Given the description of an element on the screen output the (x, y) to click on. 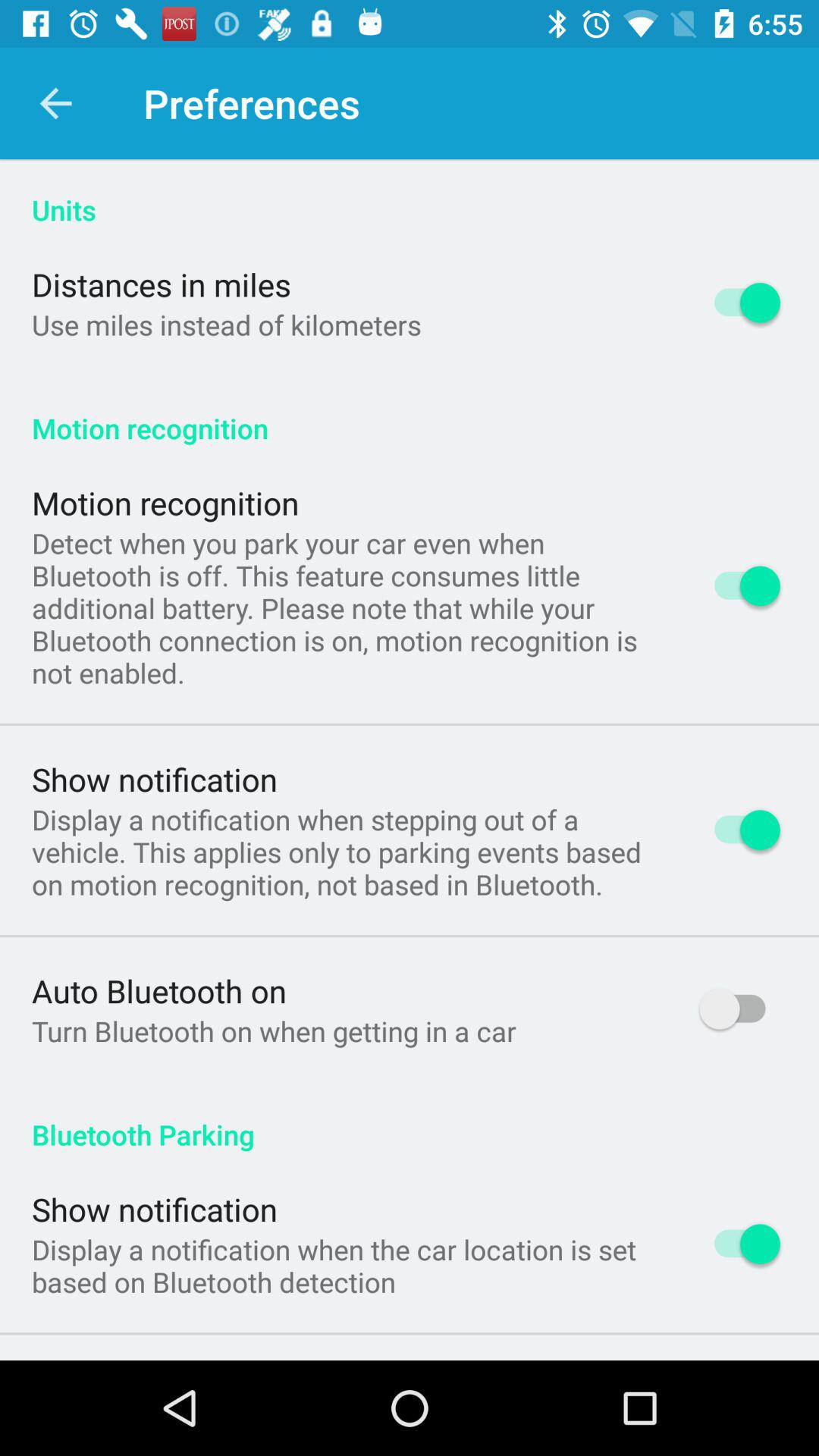
choose the units (409, 193)
